Given the description of an element on the screen output the (x, y) to click on. 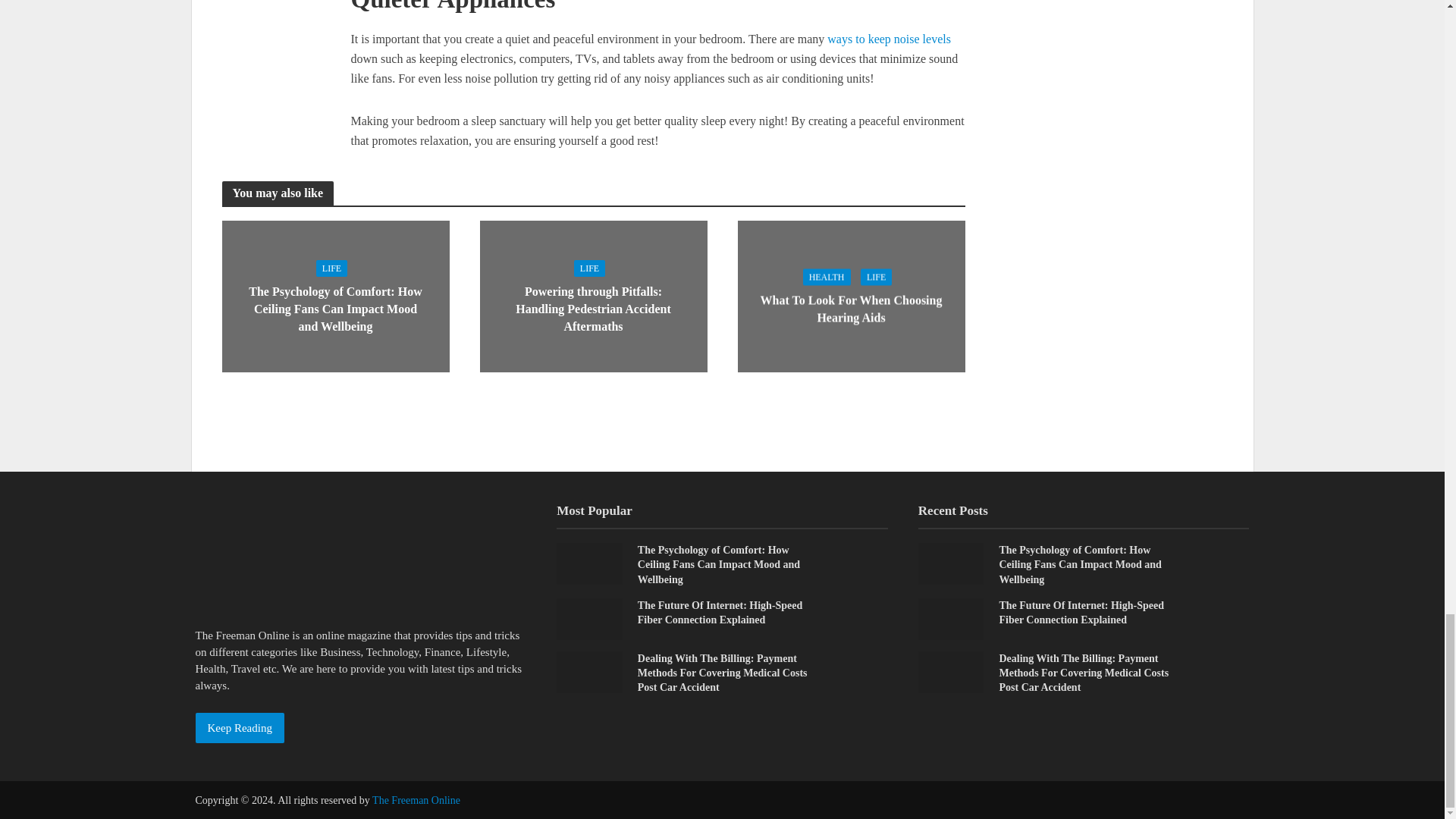
What To Look For When Choosing Hearing Aids (849, 295)
